Given the description of an element on the screen output the (x, y) to click on. 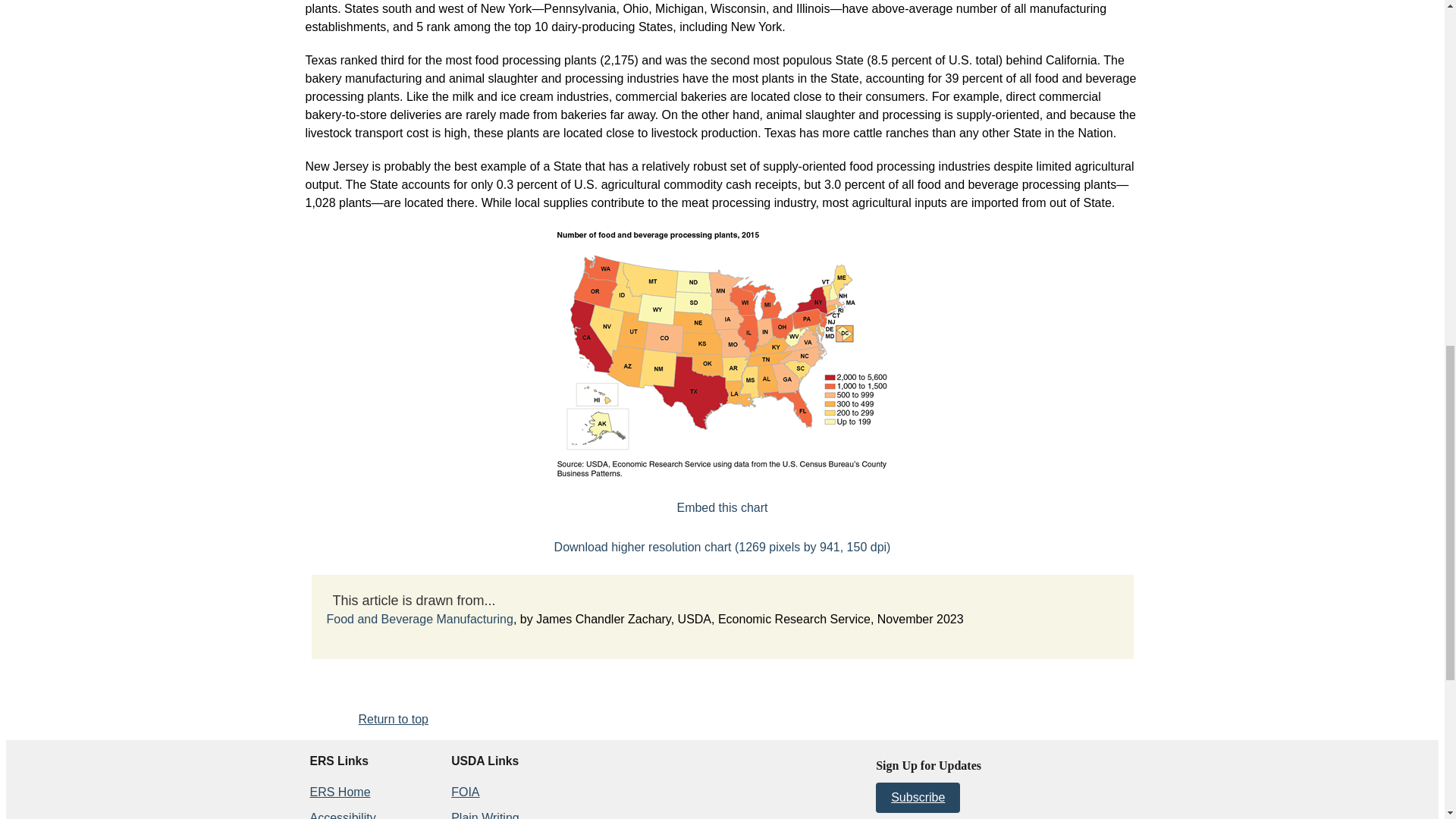
Return to top (393, 718)
Food and Beverage Manufacturing (419, 618)
FOIA (465, 791)
Accessibility (341, 815)
ERS Home (338, 791)
Embed this chart (722, 507)
Number of food and beverage processing plants, 2015 (722, 507)
